Given the description of an element on the screen output the (x, y) to click on. 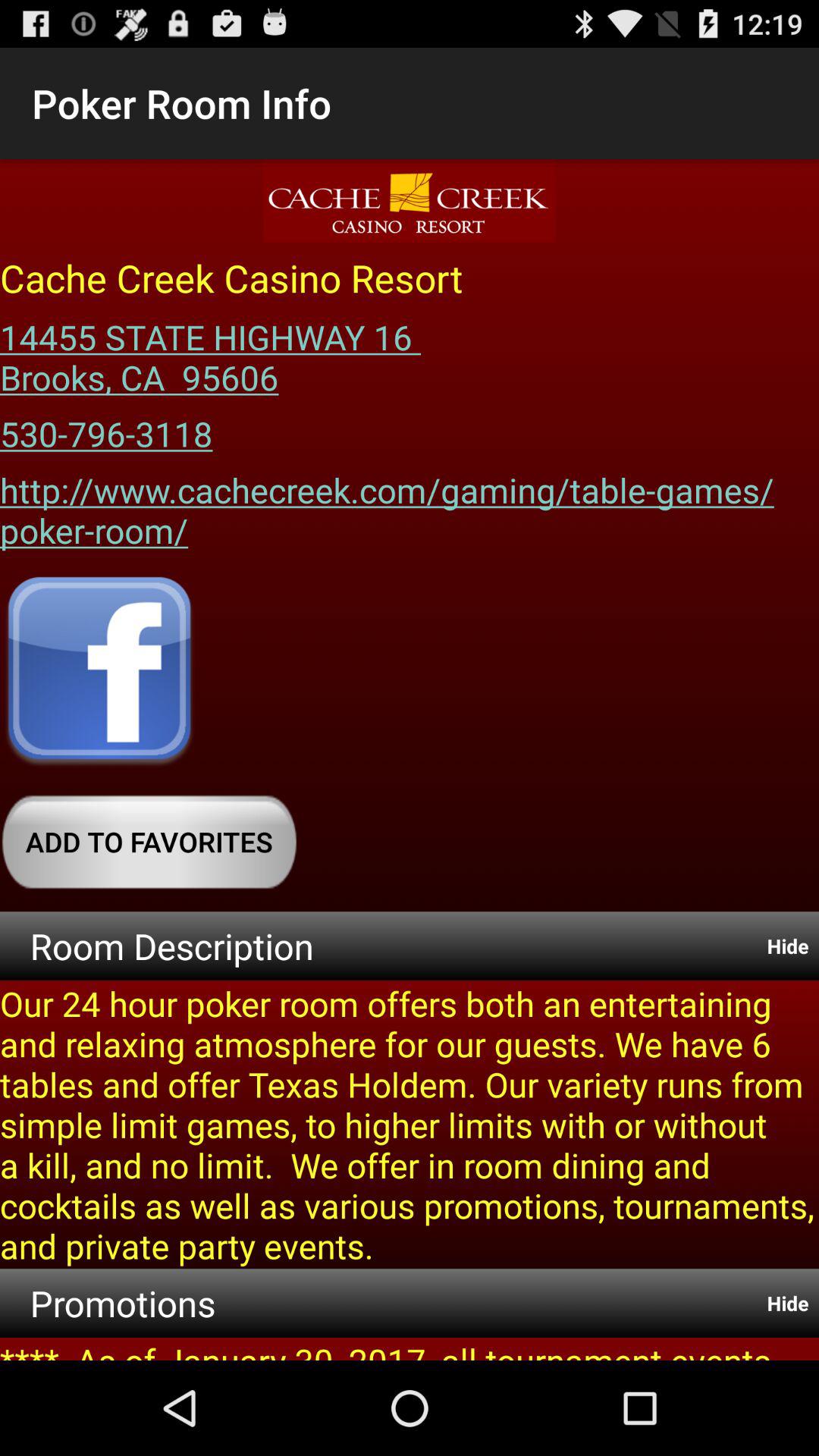
select 14455 state highway item (215, 351)
